Given the description of an element on the screen output the (x, y) to click on. 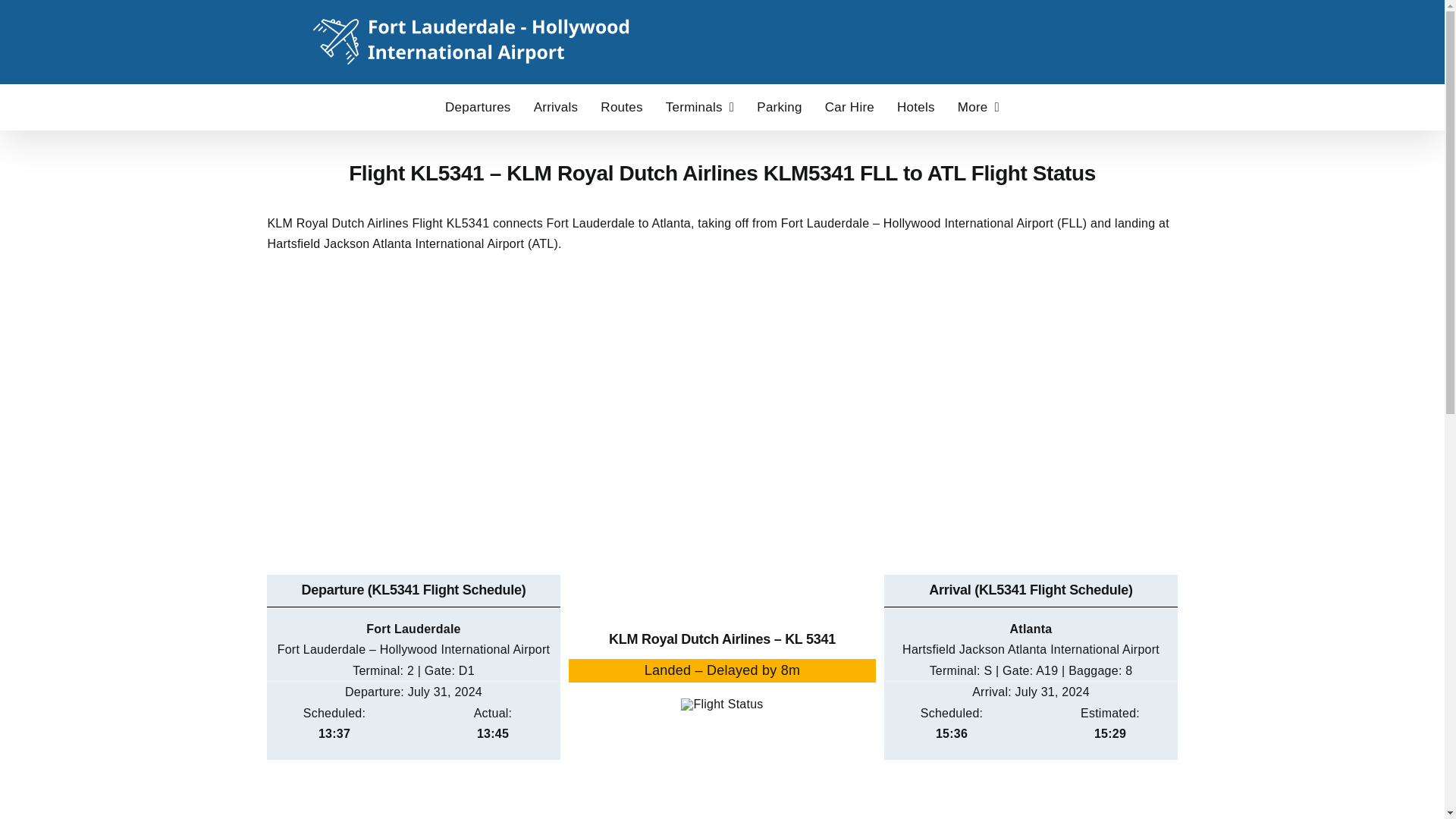
Terminals (700, 106)
FLL Car Hire (850, 106)
Departures (478, 106)
FLL Parking (779, 106)
Routes (620, 106)
FLL Departures (478, 106)
Car Hire (850, 106)
FLL Arrivals (556, 106)
Arrivals (556, 106)
Parking (779, 106)
More (978, 106)
FLL Routes (620, 106)
